Given the description of an element on the screen output the (x, y) to click on. 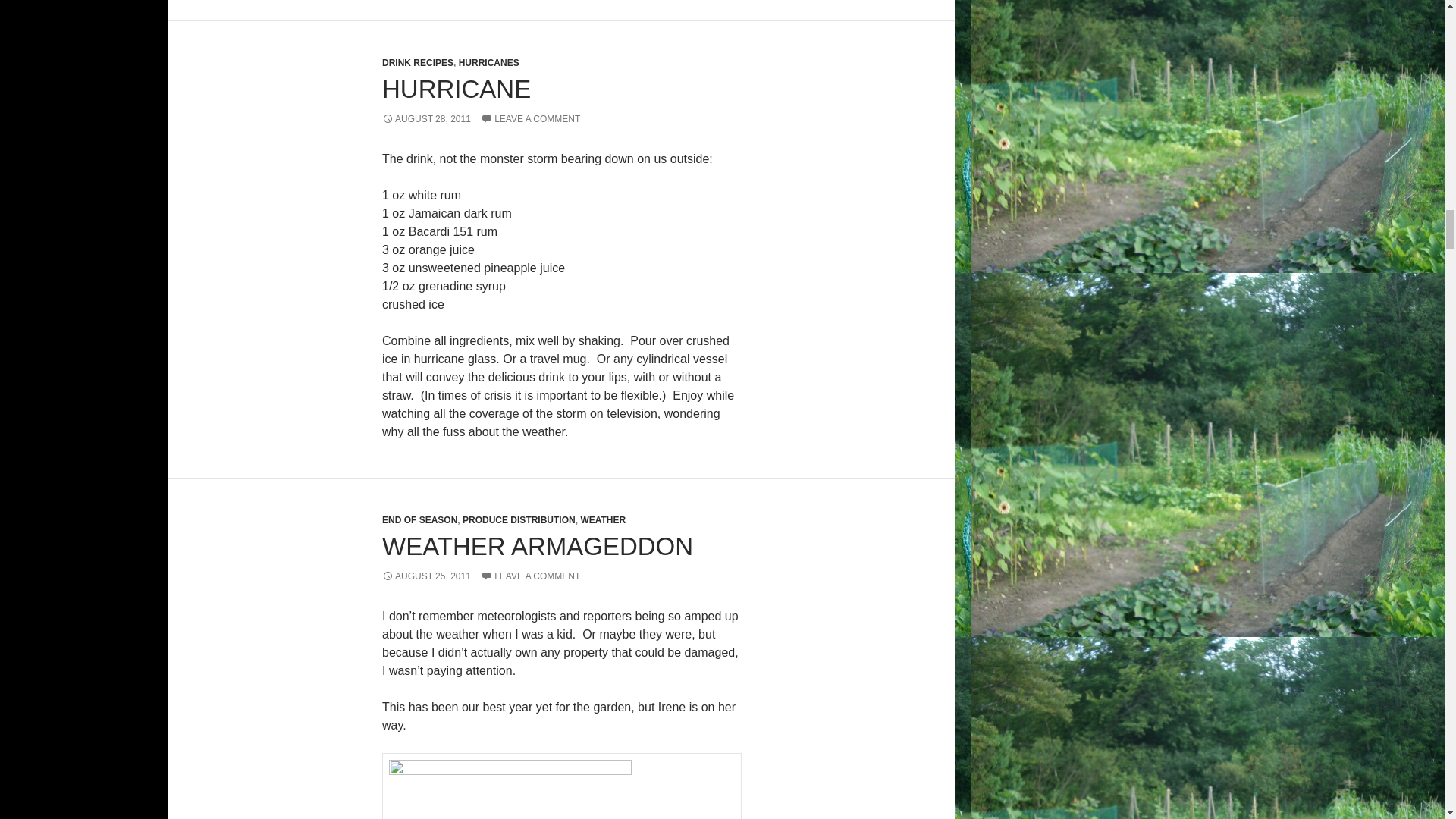
PRODUCE DISTRIBUTION (519, 520)
HURRICANES (488, 62)
HURRICANE (456, 89)
AUGUST 28, 2011 (425, 118)
DRINK RECIPES (416, 62)
LEAVE A COMMENT (529, 118)
END OF SEASON (419, 520)
